Given the description of an element on the screen output the (x, y) to click on. 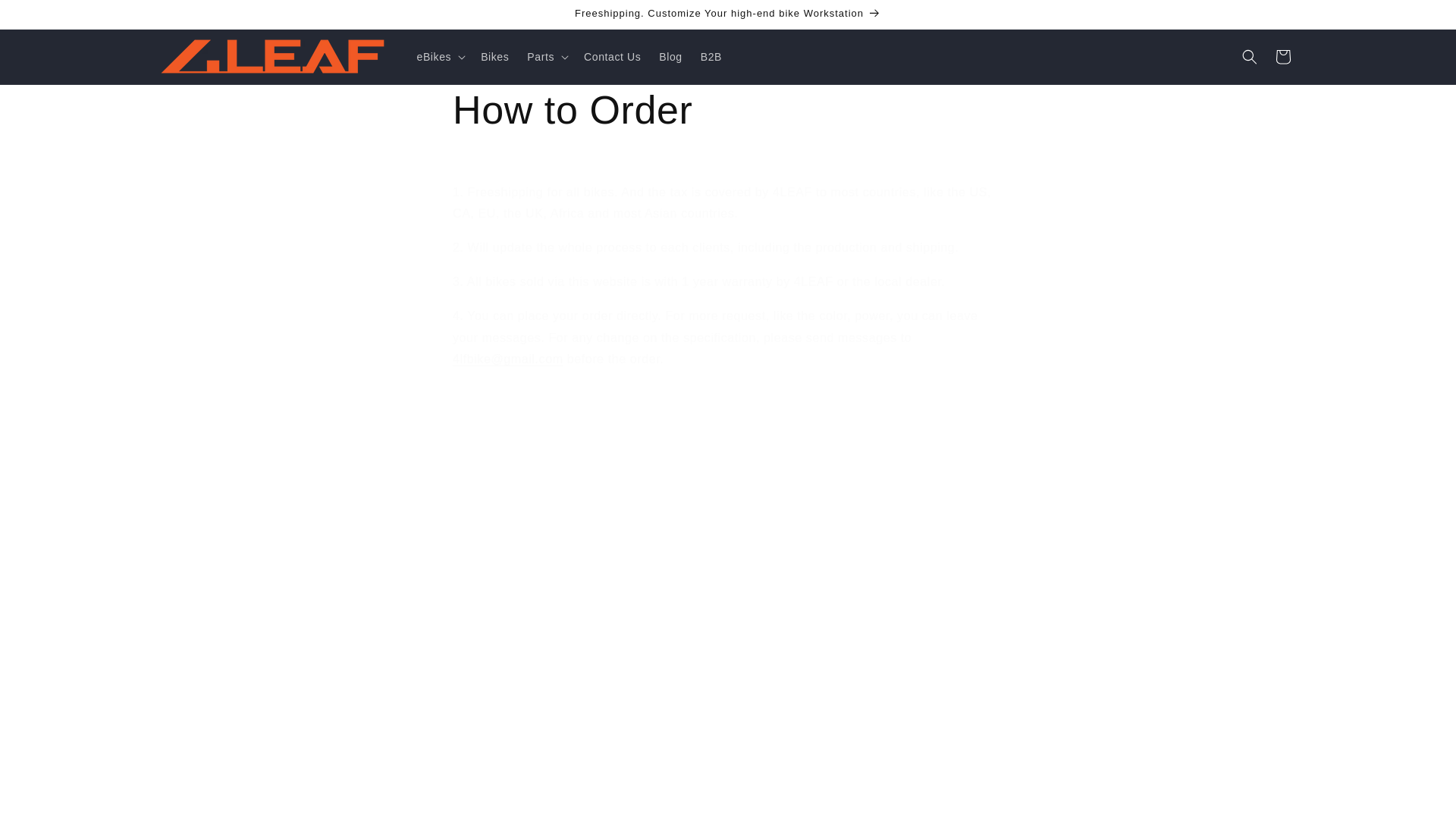
B2B (710, 56)
Blog (669, 56)
Bikes (494, 56)
Freeshipping. Customize Your high-end bike Workstation (727, 14)
Skip to content (45, 17)
Contact Us (612, 56)
How to Order (727, 110)
Cart (1283, 56)
